Given the description of an element on the screen output the (x, y) to click on. 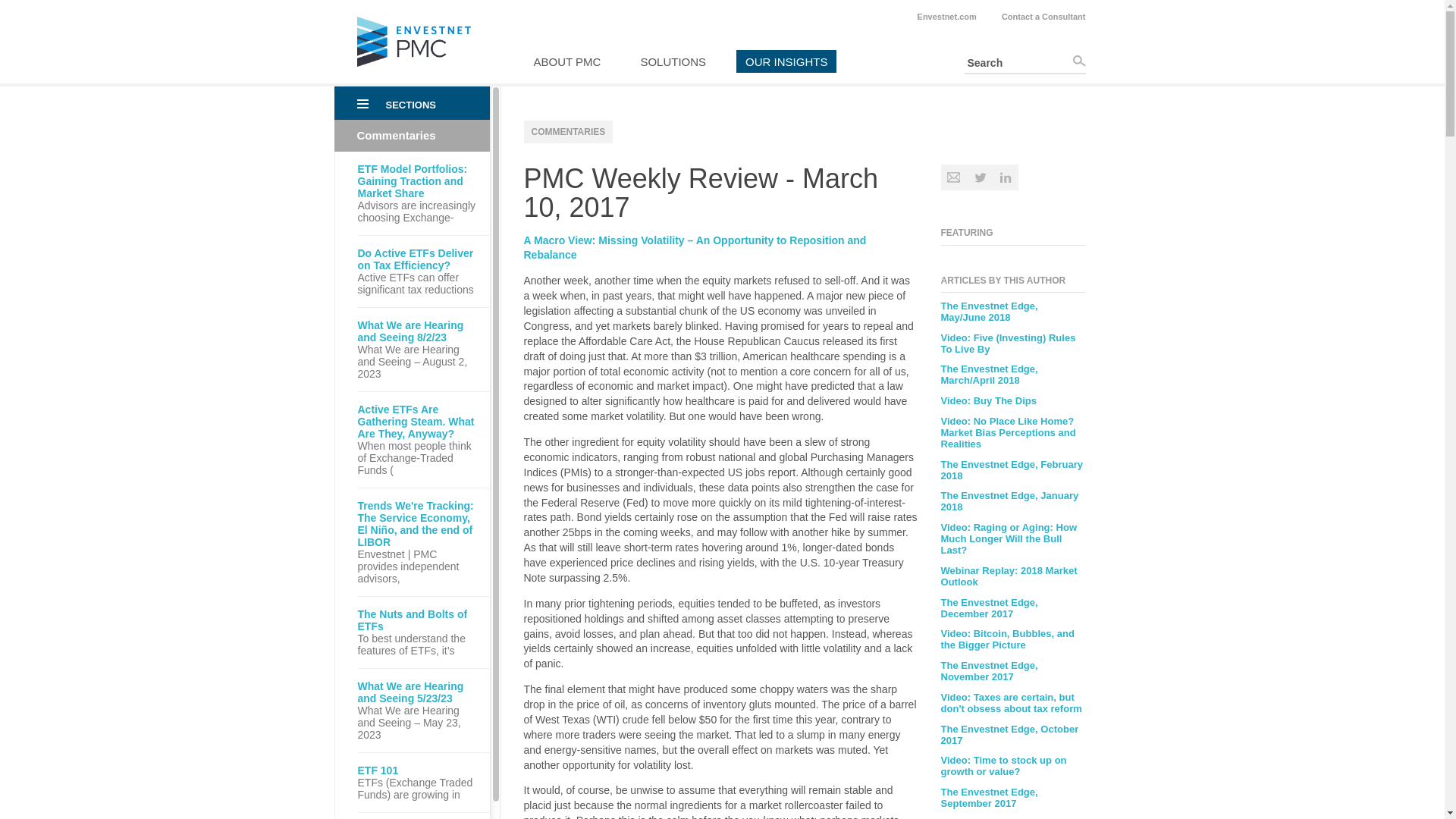
Apply (1078, 60)
ABOUT PMC (567, 60)
SOLUTIONS (672, 60)
ETF 101 (418, 770)
Contact a Consultant (1043, 16)
Home (413, 62)
Apply (1078, 60)
Active ETFs Are Gathering Steam. What Are They, Anyway? (418, 421)
Envestnet.com (946, 16)
ETF Model Portfolios: Gaining Traction and Market Share (418, 180)
Do Active ETFs Deliver on Tax Efficiency? (418, 259)
The Nuts and Bolts of ETFs (418, 620)
OUR INSIGHTS (785, 60)
